Given the description of an element on the screen output the (x, y) to click on. 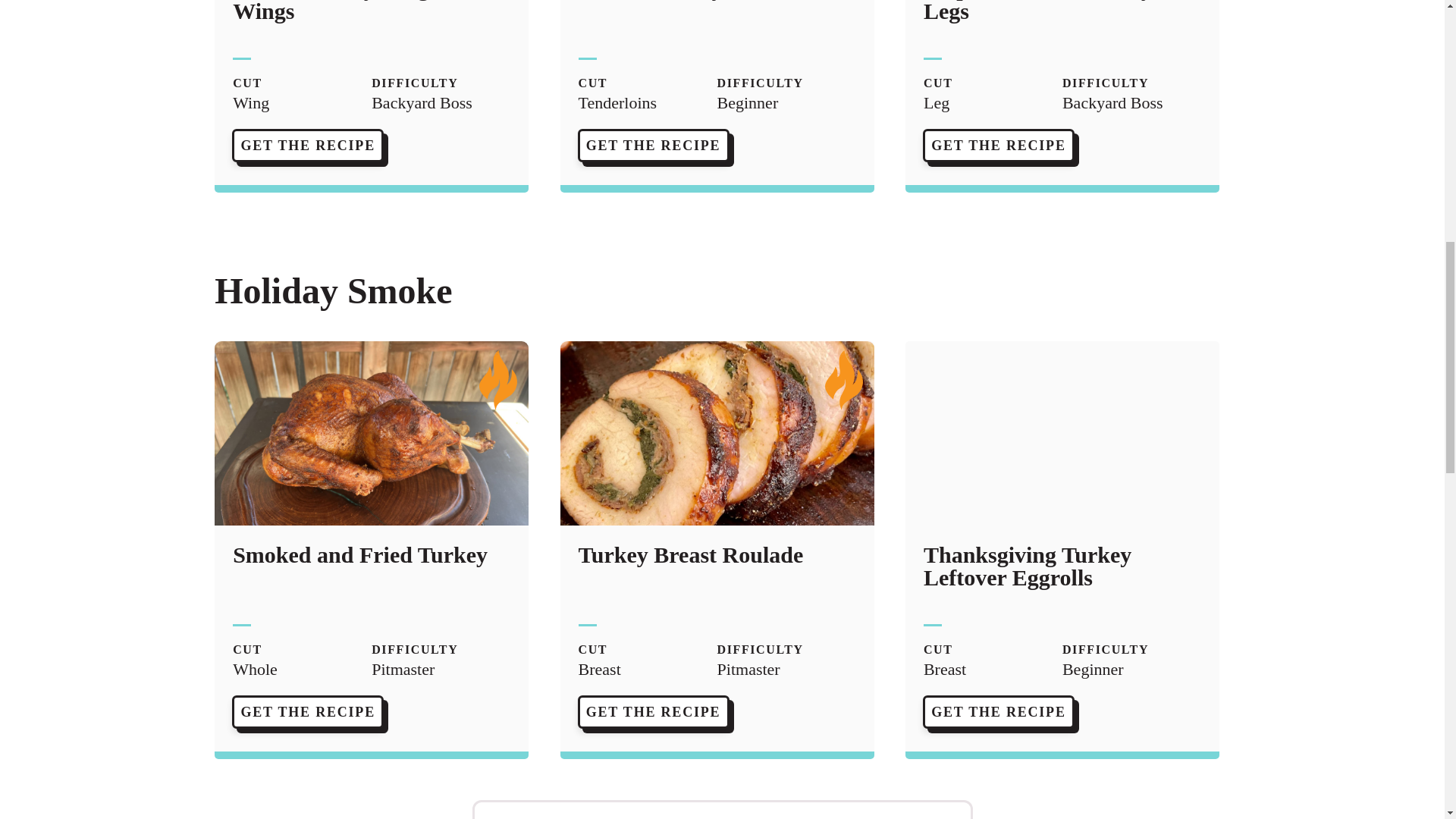
GET THE RECIPE (652, 711)
GET THE RECIPE (307, 145)
GET THE RECIPE (307, 711)
GET THE RECIPE (997, 711)
GET THE RECIPE (652, 145)
GET THE RECIPE (997, 145)
